Given the description of an element on the screen output the (x, y) to click on. 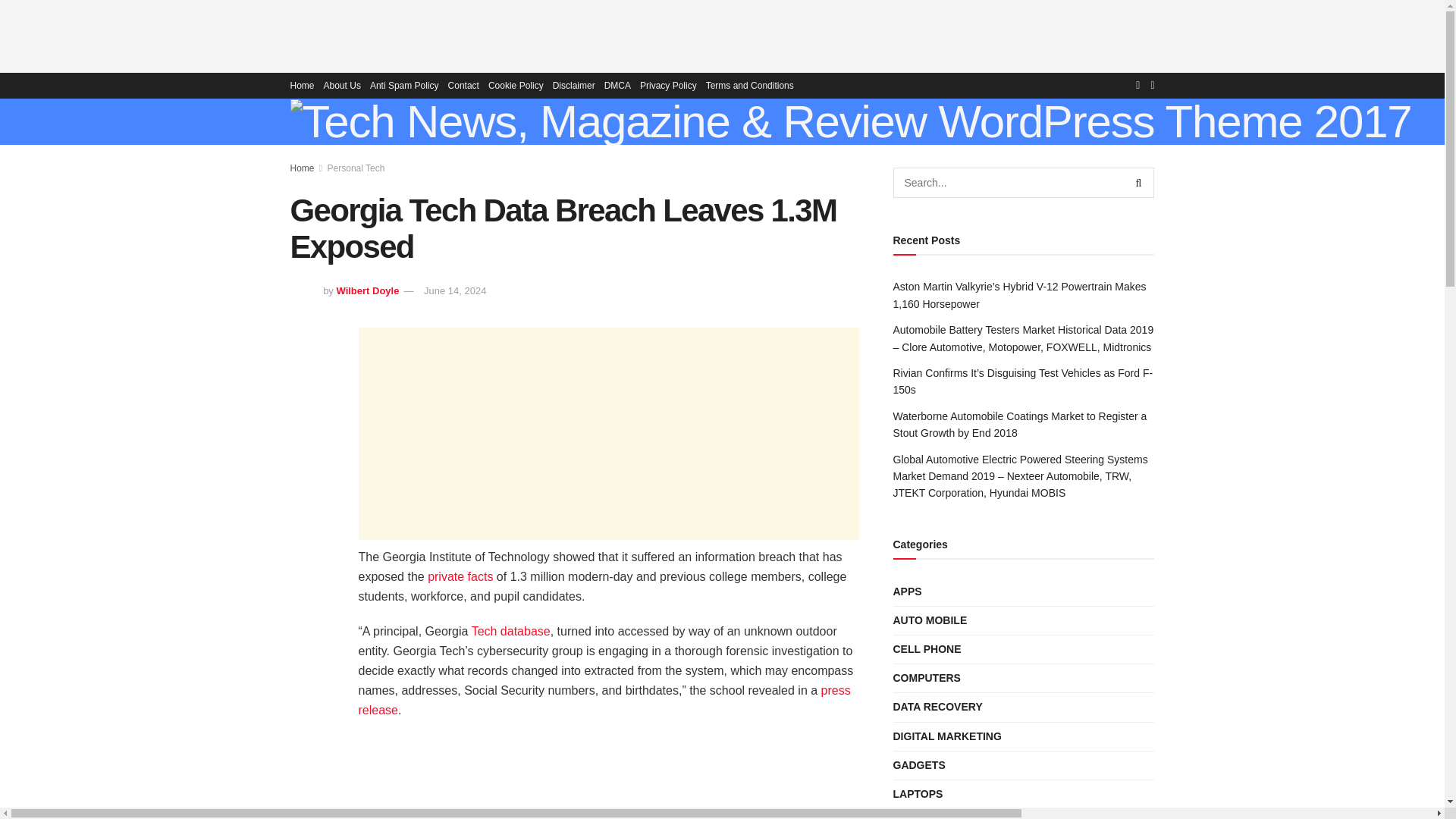
Terms and Conditions (749, 85)
Cookie Policy (515, 85)
Home (301, 85)
Anti Spam Policy (404, 85)
Privacy Policy (668, 85)
About Us (342, 85)
Advertisement (722, 33)
Advertisement (608, 433)
Georgia Tech Data Breach Leaves 1.3M Exposed 1 (608, 777)
Disclaimer (574, 85)
